Given the description of an element on the screen output the (x, y) to click on. 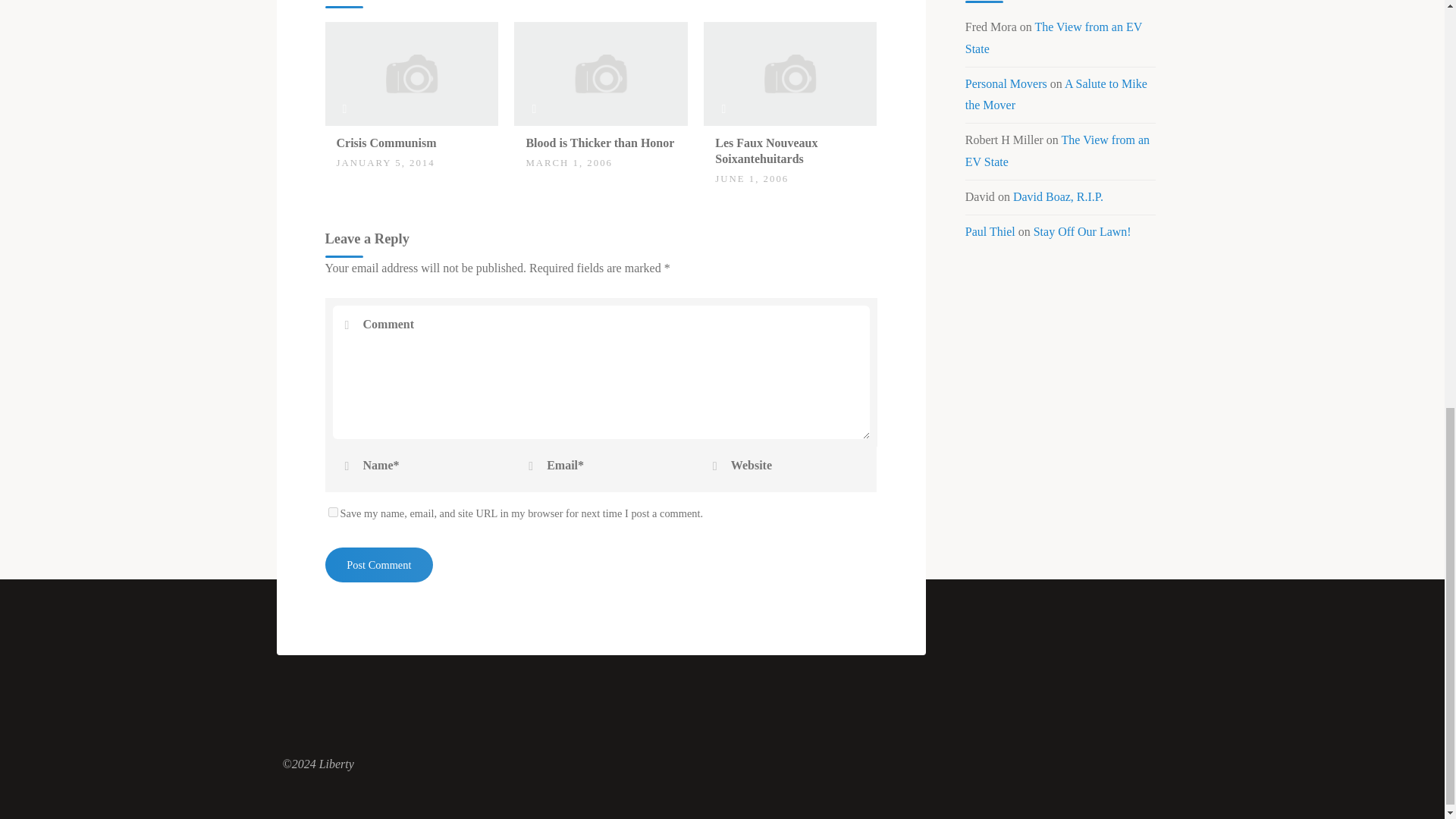
Blood is Thicker than Honor (599, 142)
Crisis Communism (386, 142)
Crisis Communism (410, 72)
Crisis Communism (386, 142)
0 (533, 135)
0 (344, 135)
Post Comment (378, 564)
Blood is Thicker than Honor (600, 72)
yes (332, 511)
